Given the description of an element on the screen output the (x, y) to click on. 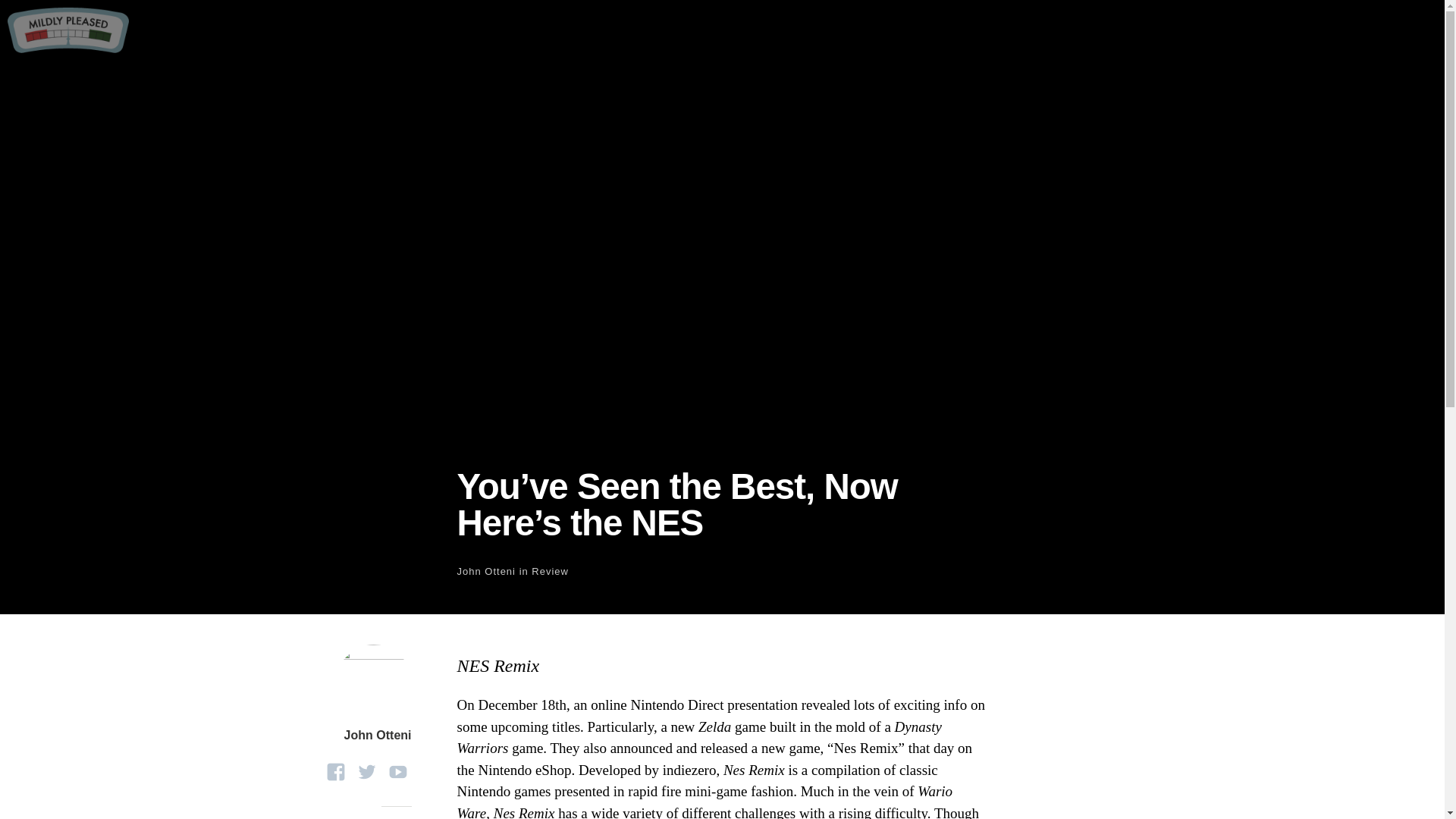
Review (550, 571)
View all posts by John Otteni (377, 735)
John Otteni (377, 735)
Search (29, 13)
Mildly Pleased (68, 48)
View all posts by John Otteni (486, 571)
John Otteni (486, 571)
